Given the description of an element on the screen output the (x, y) to click on. 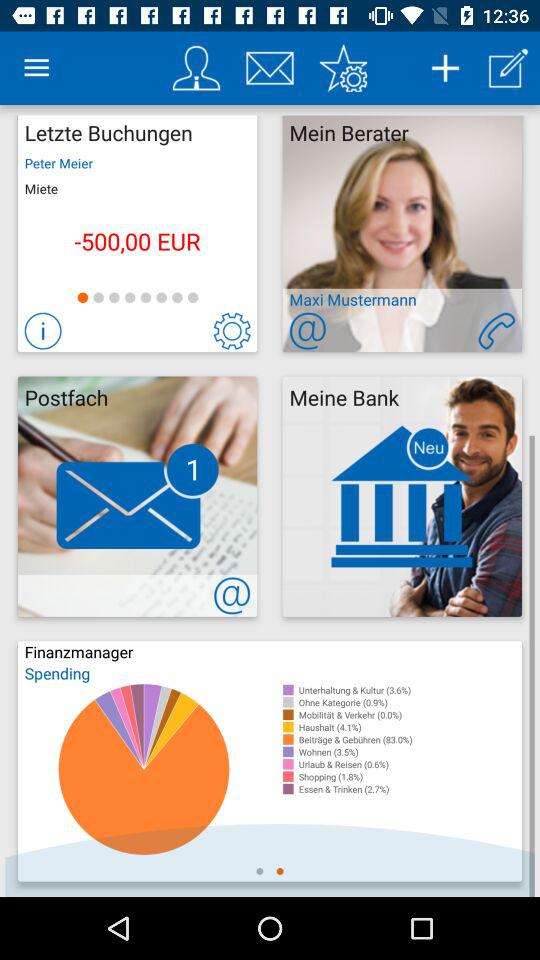
app setting (343, 67)
